Given the description of an element on the screen output the (x, y) to click on. 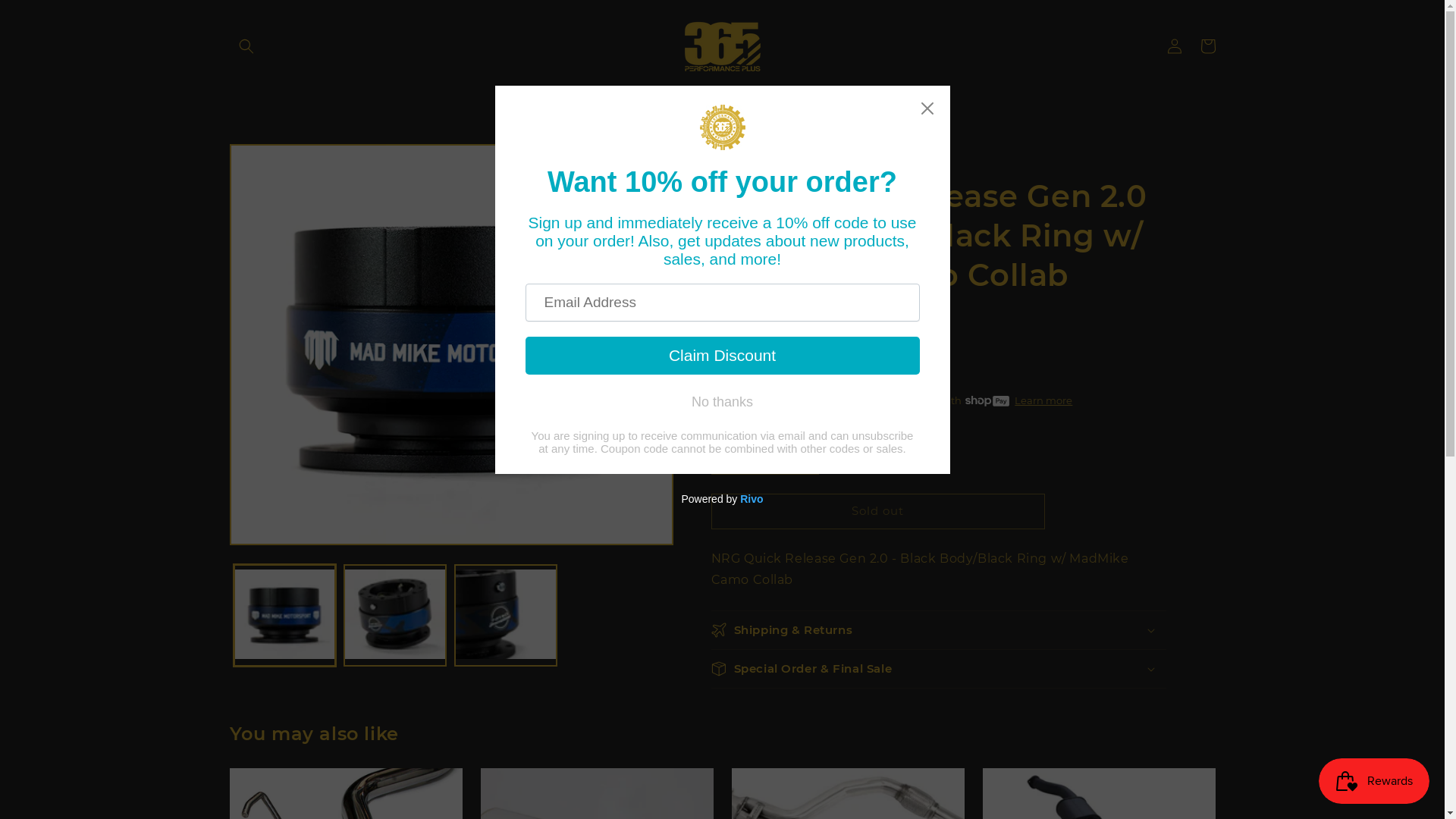
Skip to product information Element type: text (275, 160)
WHEEL INVENTORY Element type: text (580, 100)
Cart Element type: text (1206, 45)
Smile.io Rewards Program Launcher Element type: hover (1373, 780)
Sold out Element type: text (877, 511)
Log in Element type: text (1173, 45)
Shipping Element type: text (733, 373)
